Given the description of an element on the screen output the (x, y) to click on. 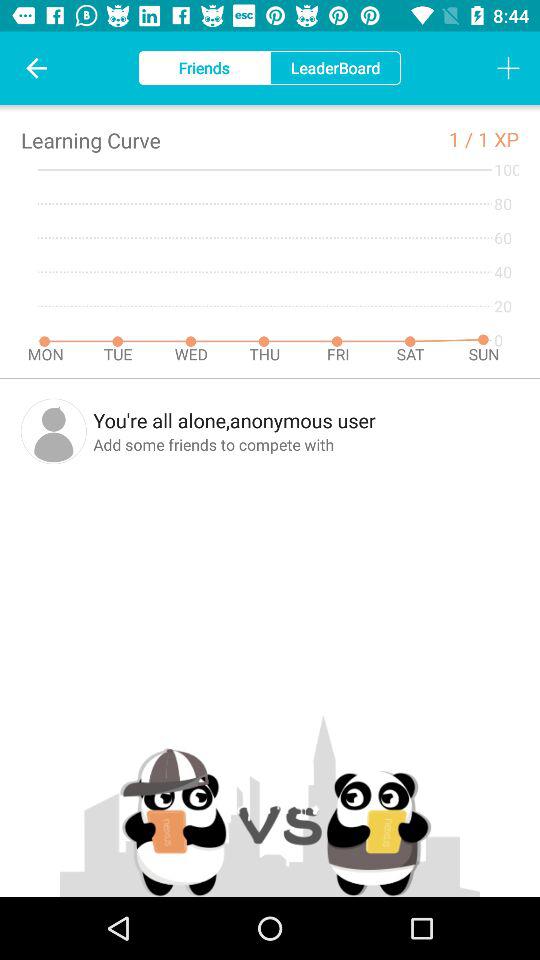
press the icon to the right of the learning curve item (463, 138)
